Given the description of an element on the screen output the (x, y) to click on. 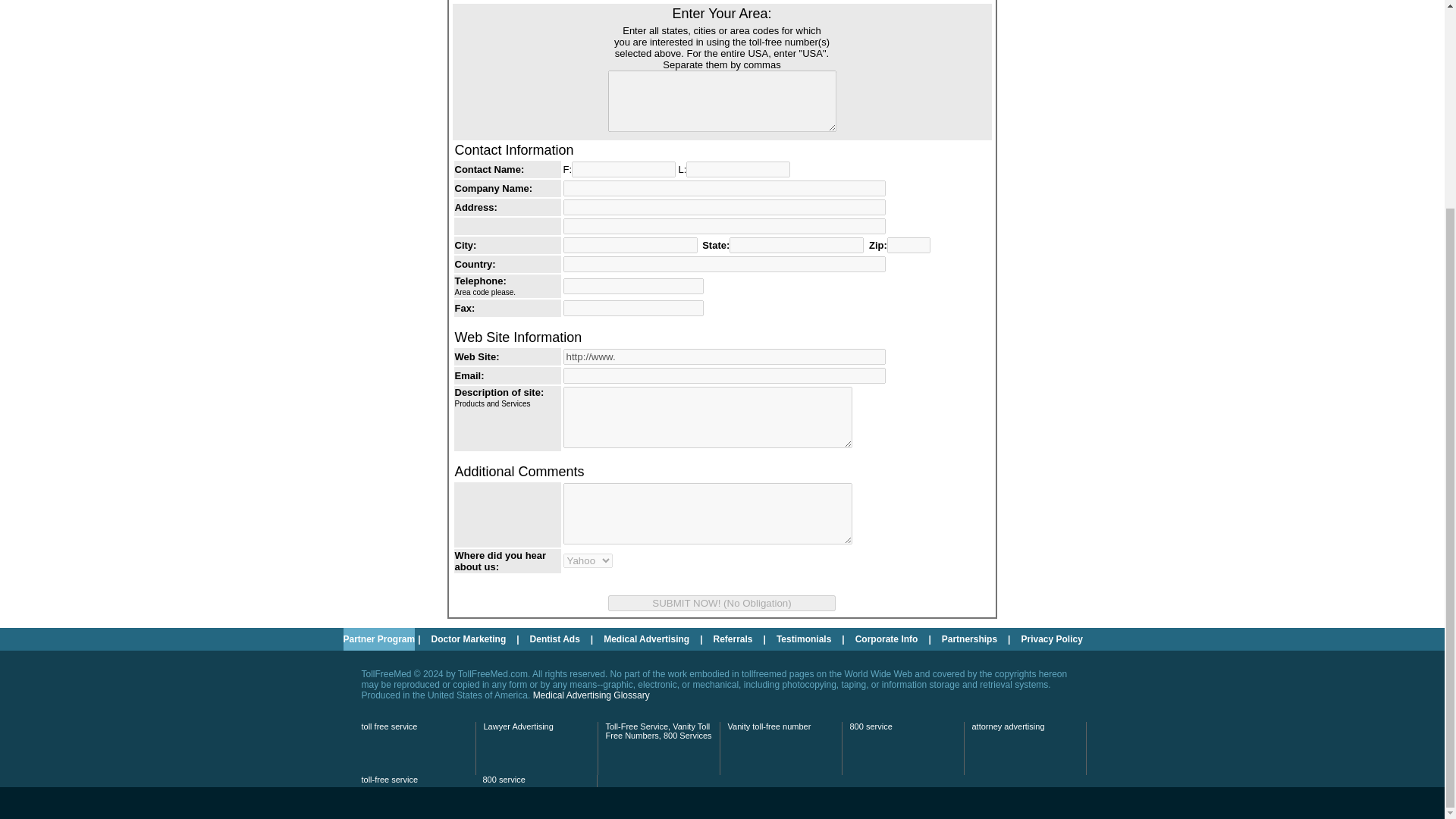
Referrals (732, 639)
800 service (869, 726)
Doctor Marketing (468, 639)
toll-free service (389, 778)
Vanity toll-free number (769, 726)
Testimonials (803, 639)
Partner Program (378, 639)
Dentist Ads (555, 639)
Partnerships (969, 639)
Corporate Info (886, 639)
